Given the description of an element on the screen output the (x, y) to click on. 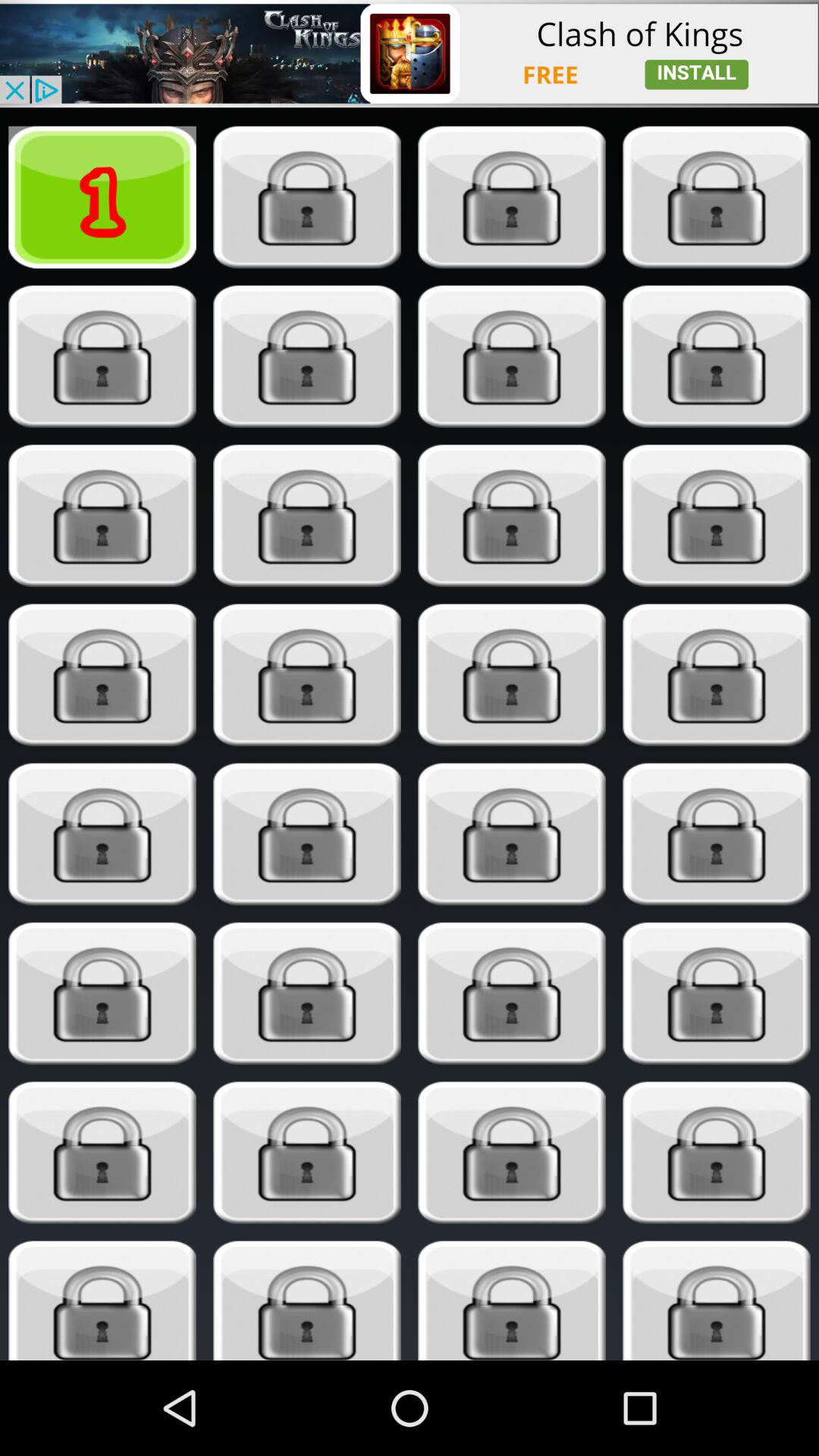
advertisement (409, 53)
